Given the description of an element on the screen output the (x, y) to click on. 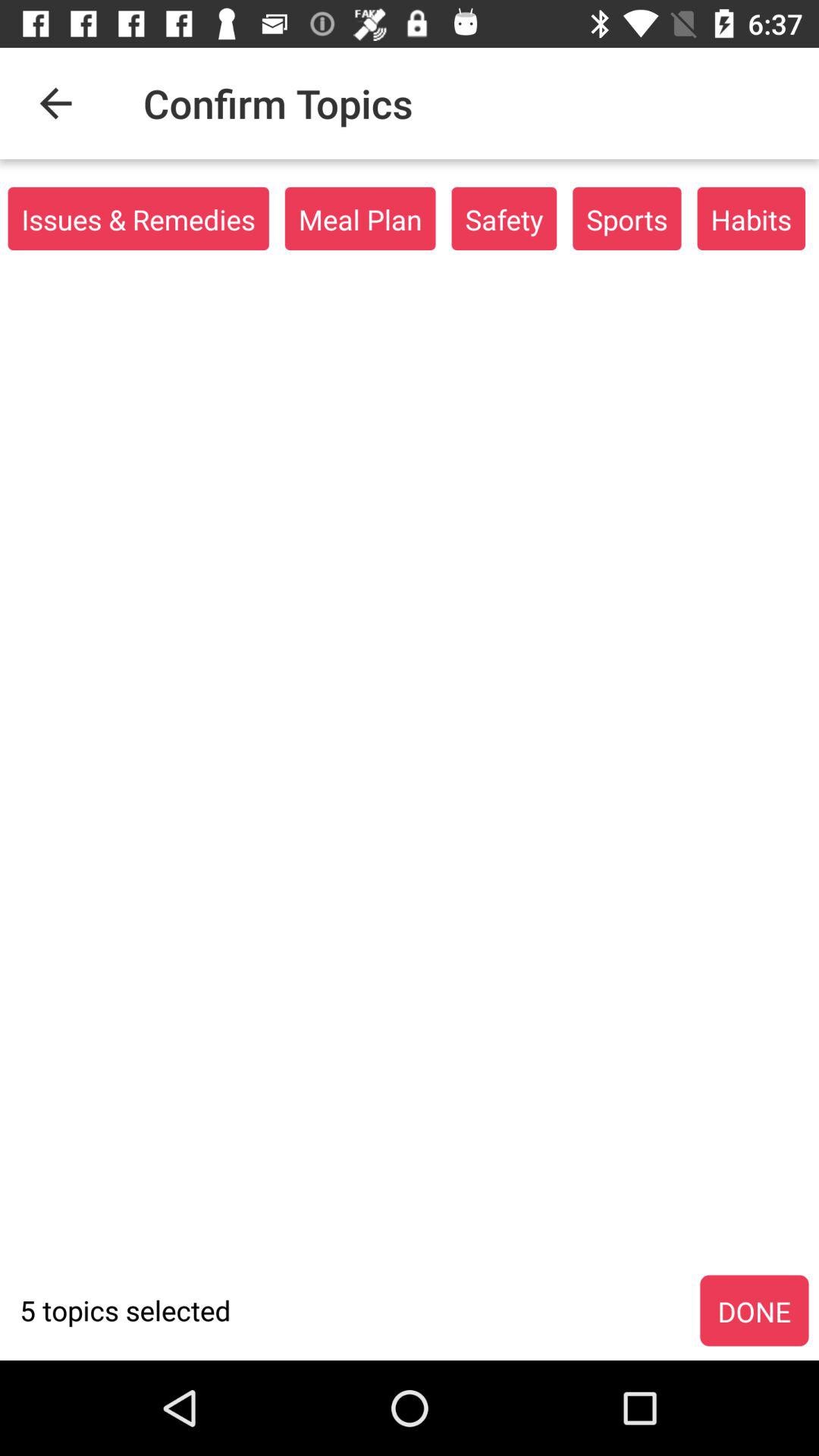
choose icon next to 5 topics selected  item (754, 1311)
